Given the description of an element on the screen output the (x, y) to click on. 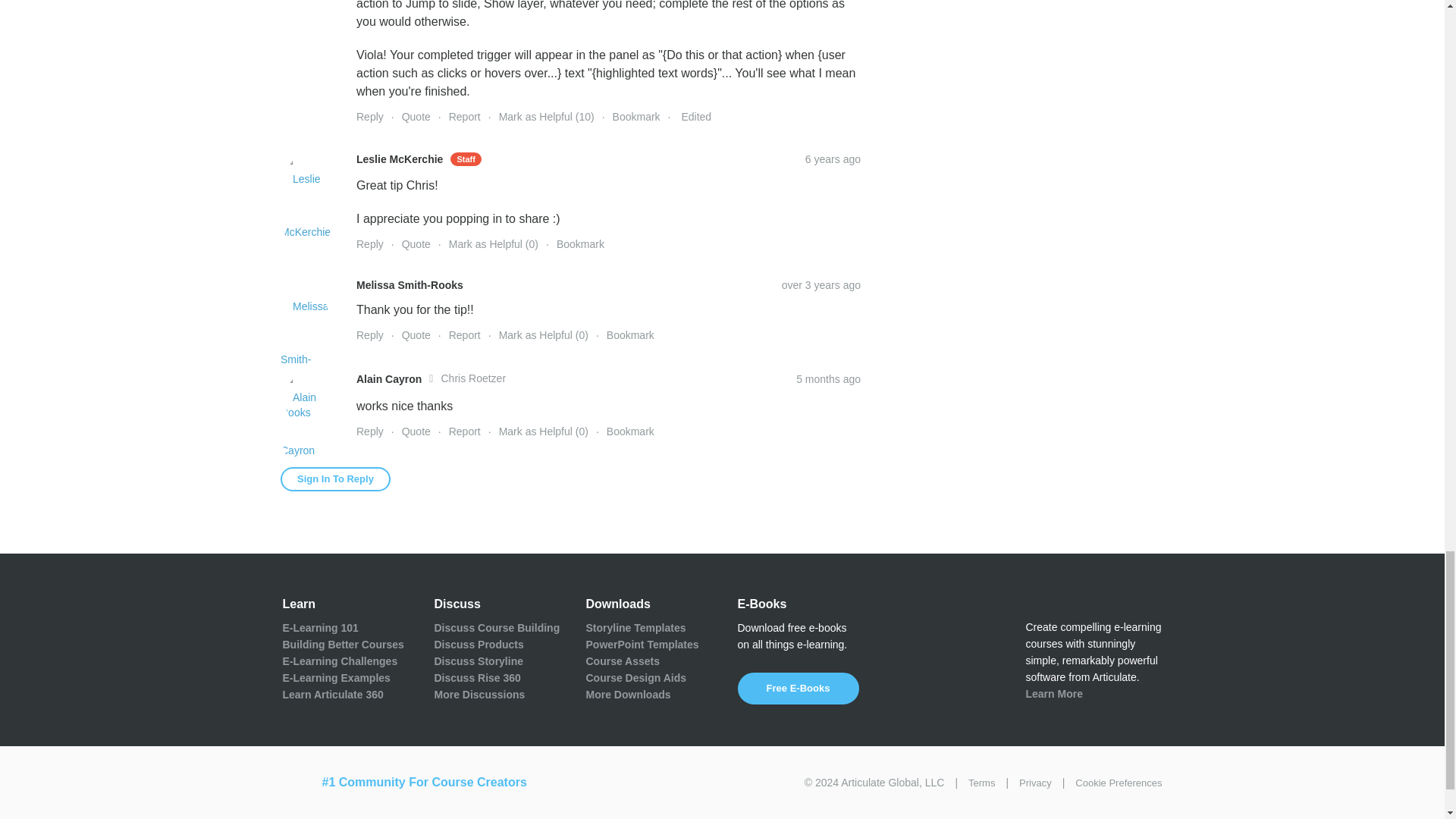
Copy URL to Clipboard (832, 159)
Copy URL to Clipboard (820, 285)
